Given the description of an element on the screen output the (x, y) to click on. 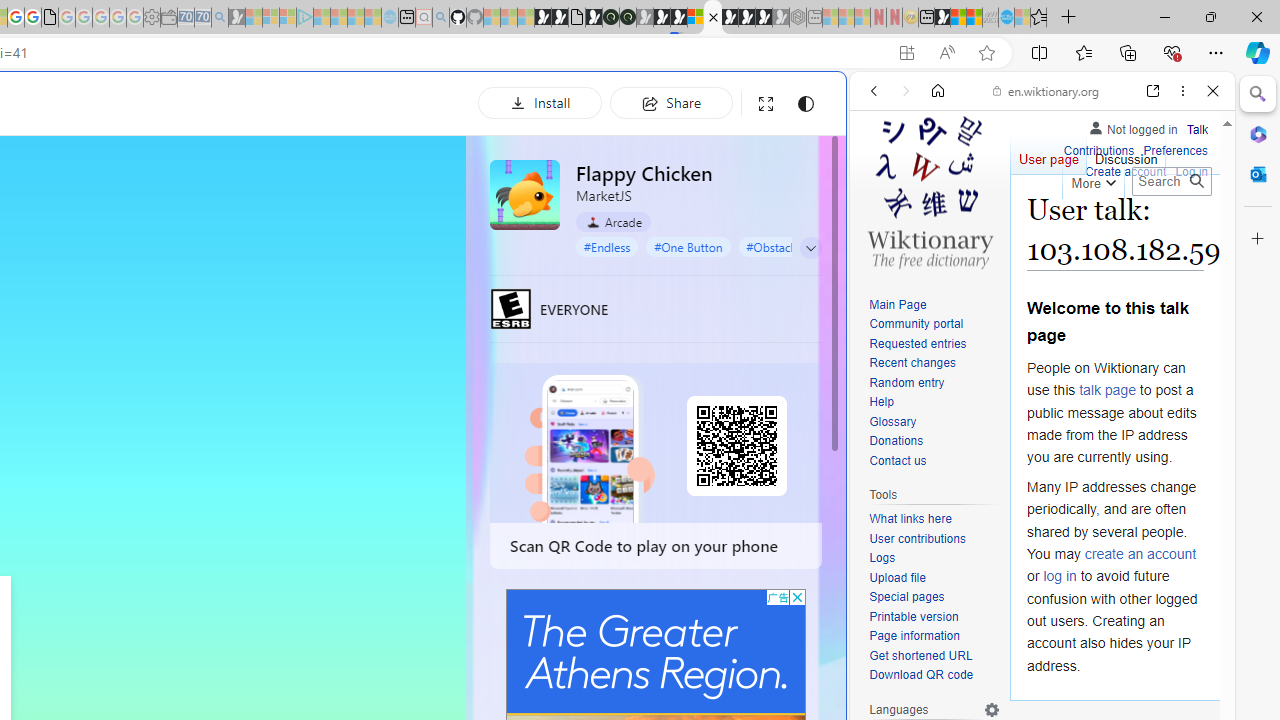
Logs (934, 558)
Glossary (892, 421)
Random entry (906, 382)
Earth has six continents not seven, radical new study claims (973, 17)
Help (881, 402)
Play Zoo Boom in your browser | Games from Microsoft Start (559, 17)
Search Filter, Search Tools (1093, 228)
